Given the description of an element on the screen output the (x, y) to click on. 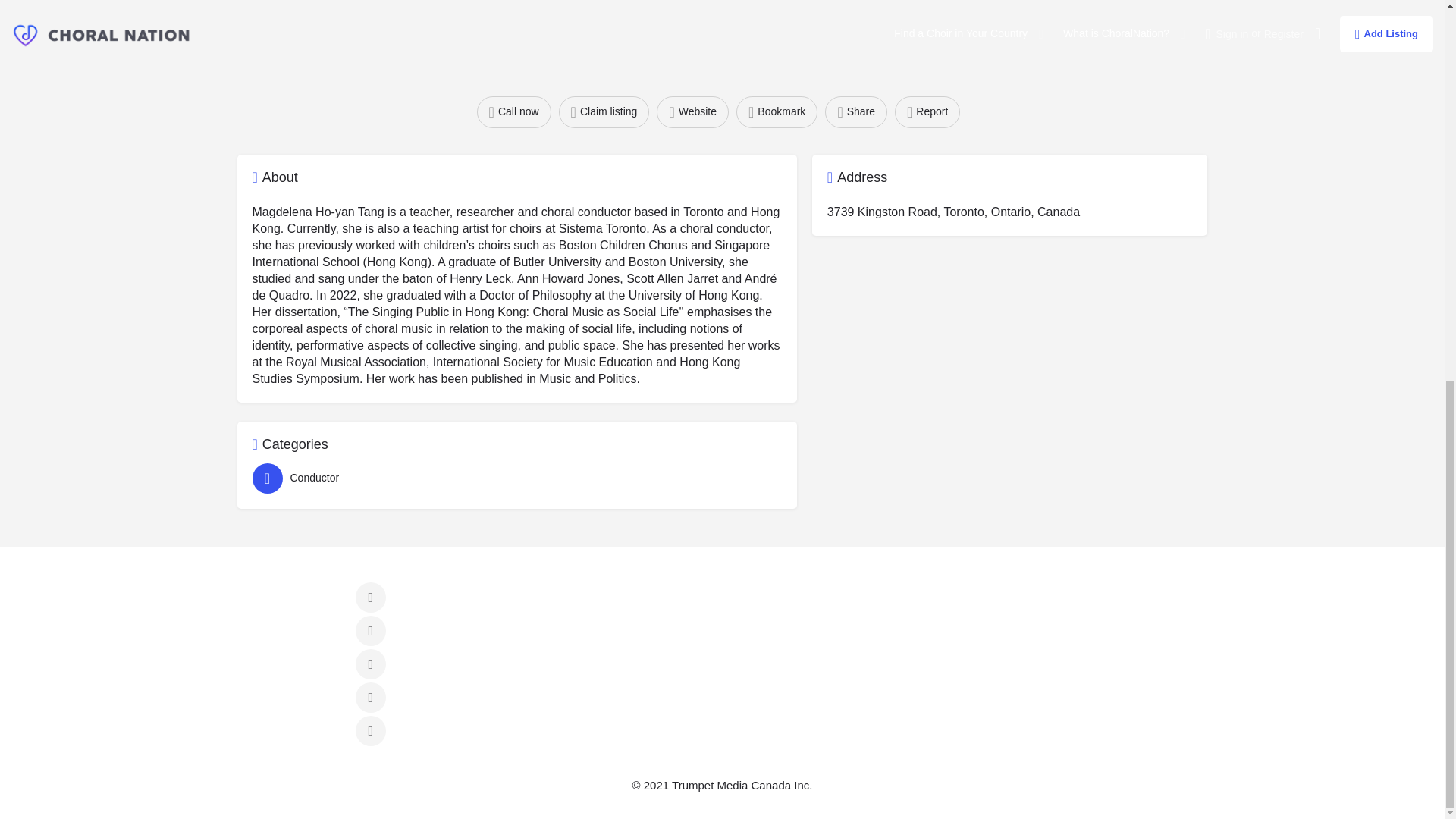
Conductor (512, 478)
Website (692, 111)
Report (927, 111)
Claim listing (604, 111)
Bookmark (776, 111)
Call now (514, 111)
Share (855, 111)
